Given the description of an element on the screen output the (x, y) to click on. 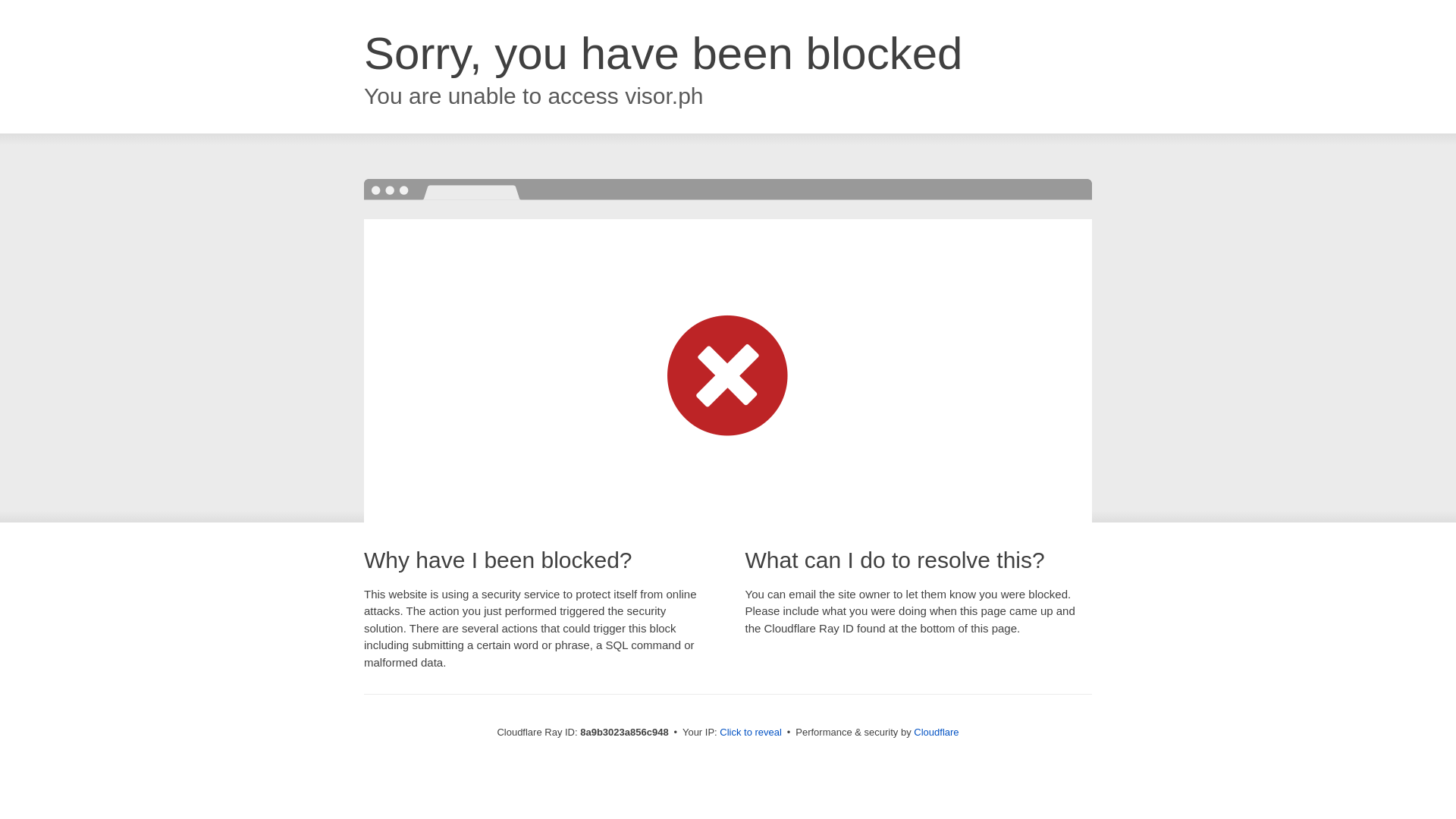
Cloudflare (936, 731)
Click to reveal (750, 732)
